Given the description of an element on the screen output the (x, y) to click on. 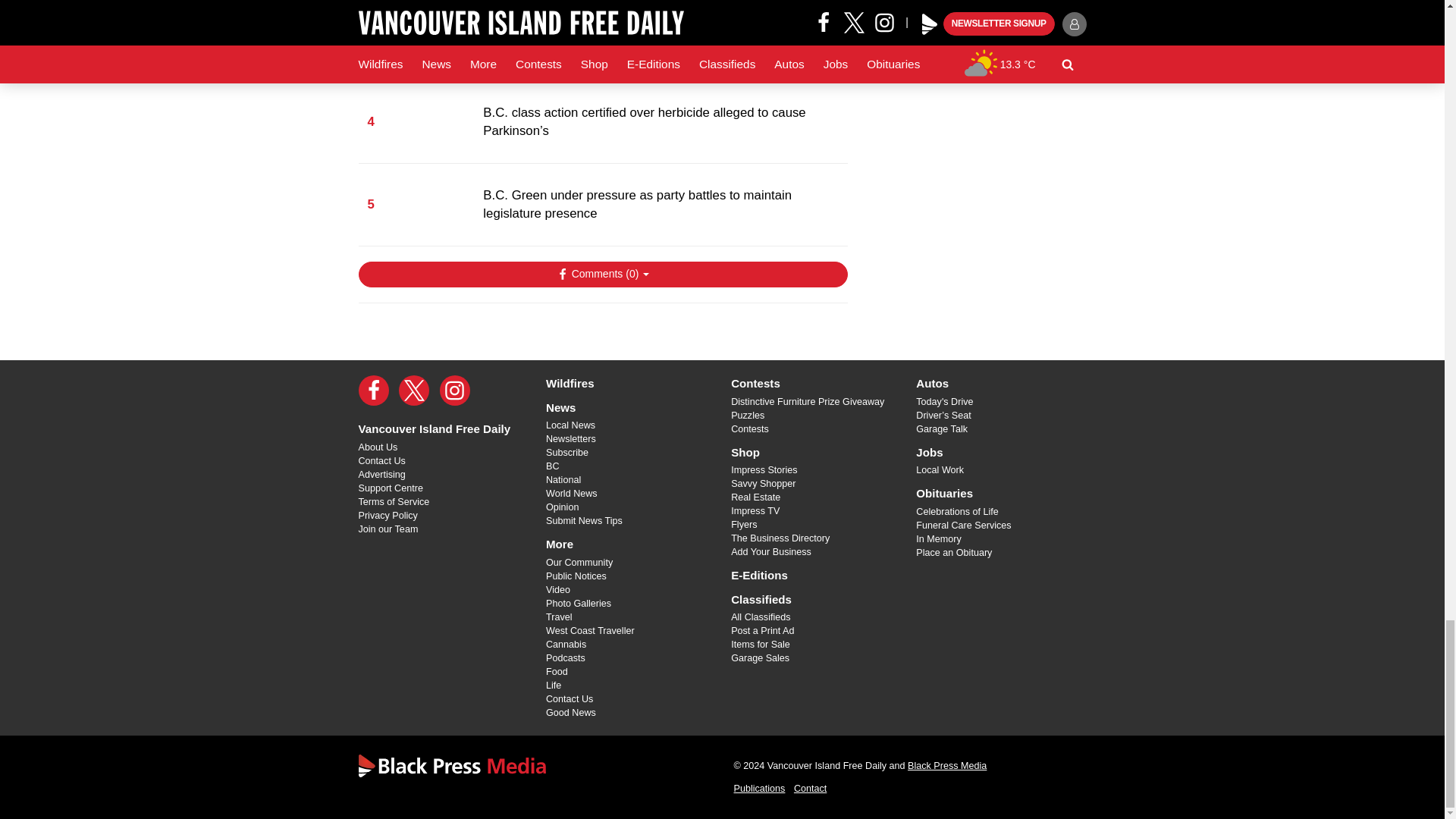
Facebook (373, 390)
Instagram (454, 390)
Show Comments (602, 274)
X (413, 390)
